Given the description of an element on the screen output the (x, y) to click on. 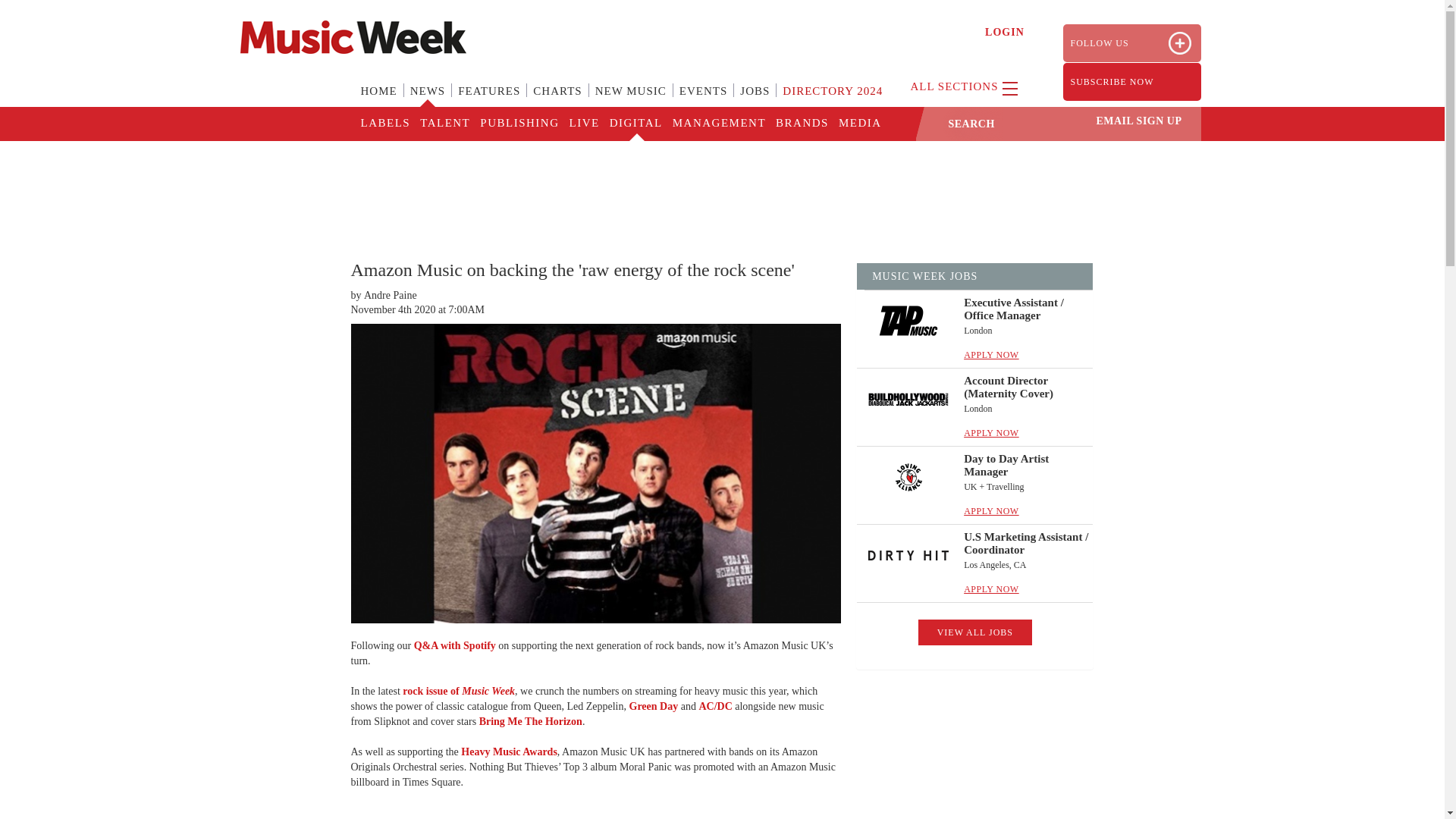
LABELS (384, 123)
LOGIN (1005, 31)
FEATURES (488, 100)
TALENT (443, 123)
NEW MUSIC (630, 100)
MEDIA (858, 123)
LIVE (582, 123)
EVENTS (702, 100)
CHARTS (557, 100)
PUBLISHING (518, 123)
BRANDS (801, 123)
MANAGEMENT (718, 123)
HOME (379, 100)
